Given the description of an element on the screen output the (x, y) to click on. 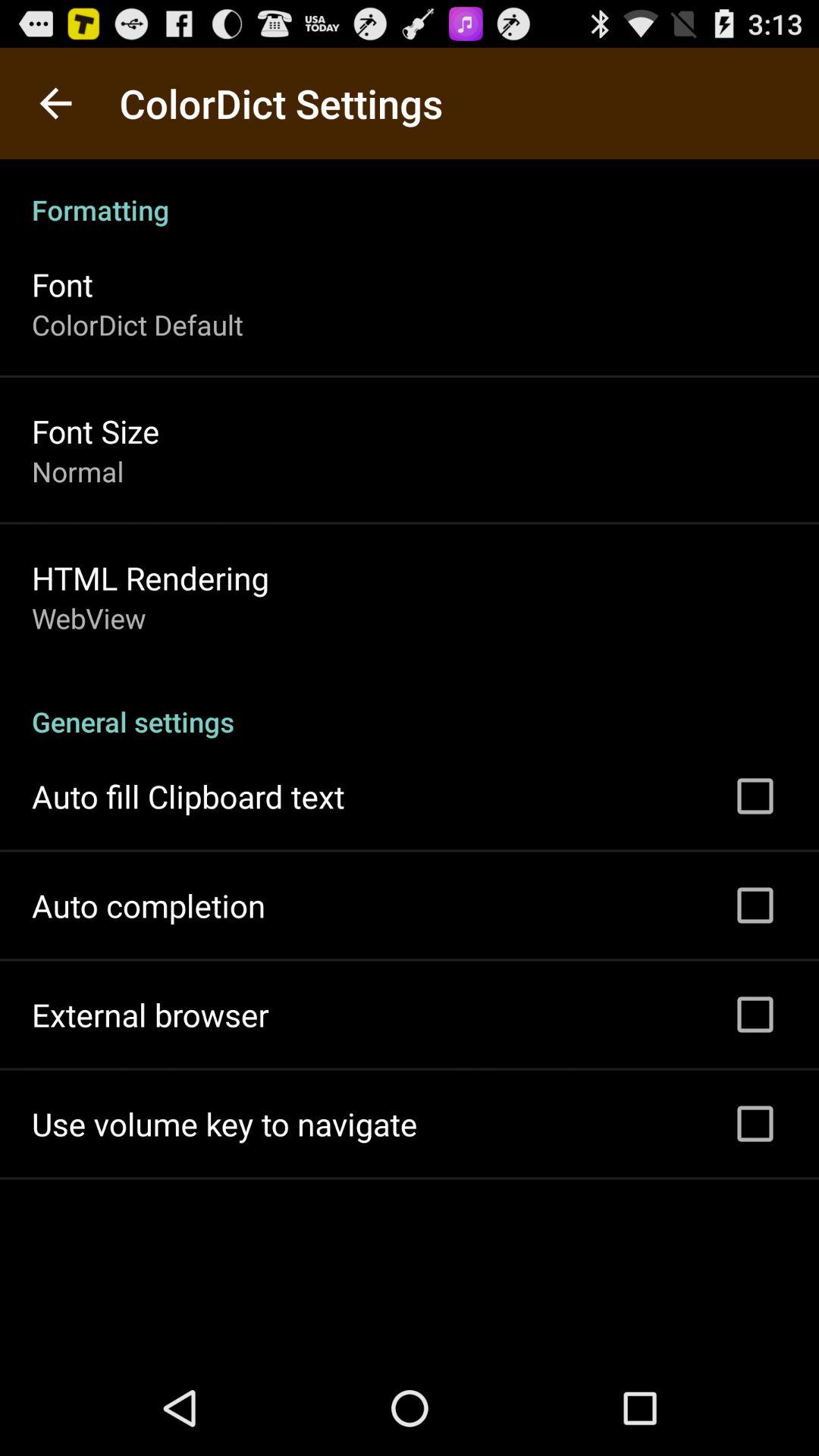
choose the icon at the center (409, 705)
